Given the description of an element on the screen output the (x, y) to click on. 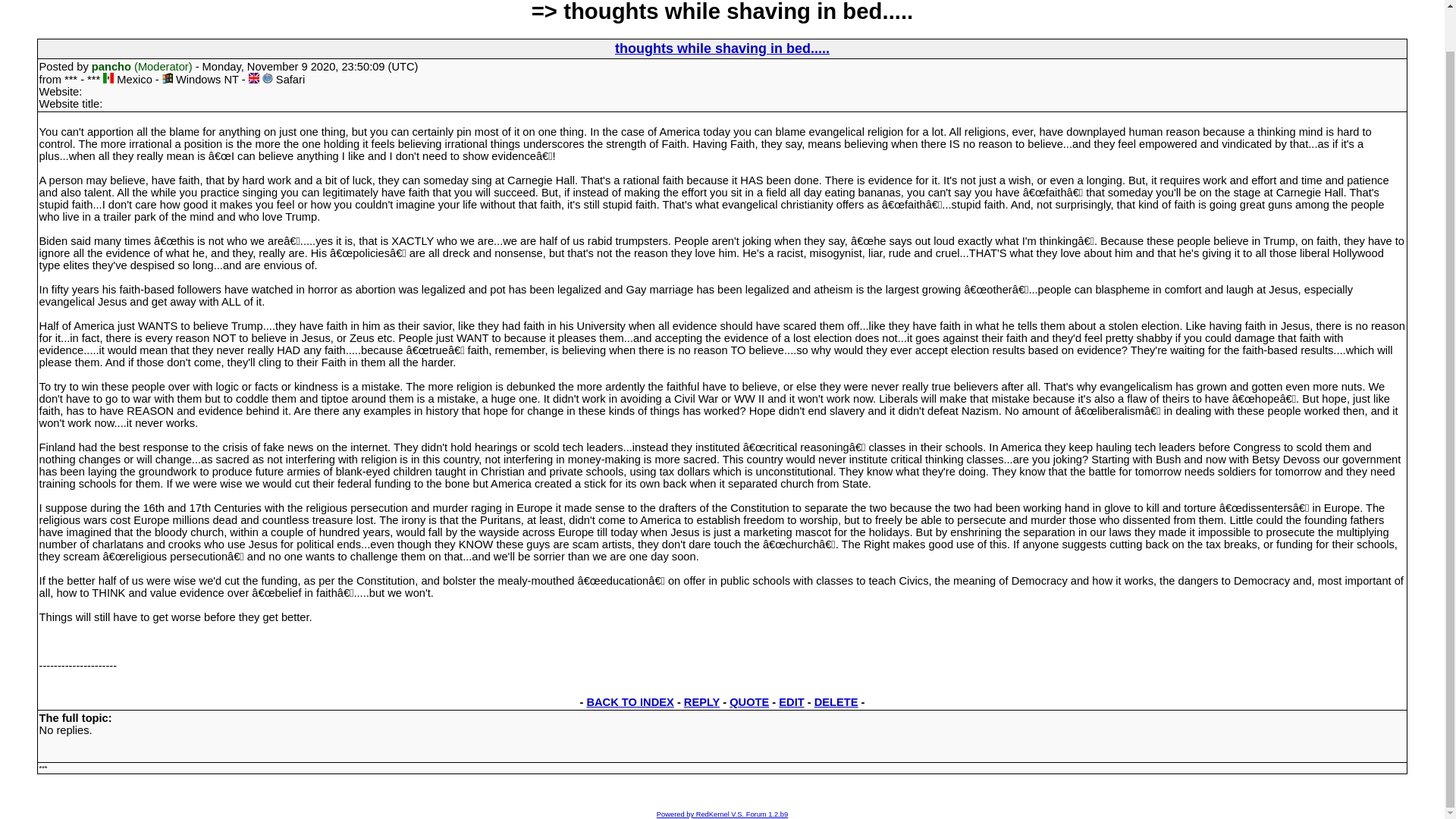
DELETE (836, 702)
EDIT (790, 702)
REPLY (701, 702)
BACK TO INDEX (629, 702)
thoughts while shaving in bed..... (721, 48)
QUOTE (748, 702)
